Given the description of an element on the screen output the (x, y) to click on. 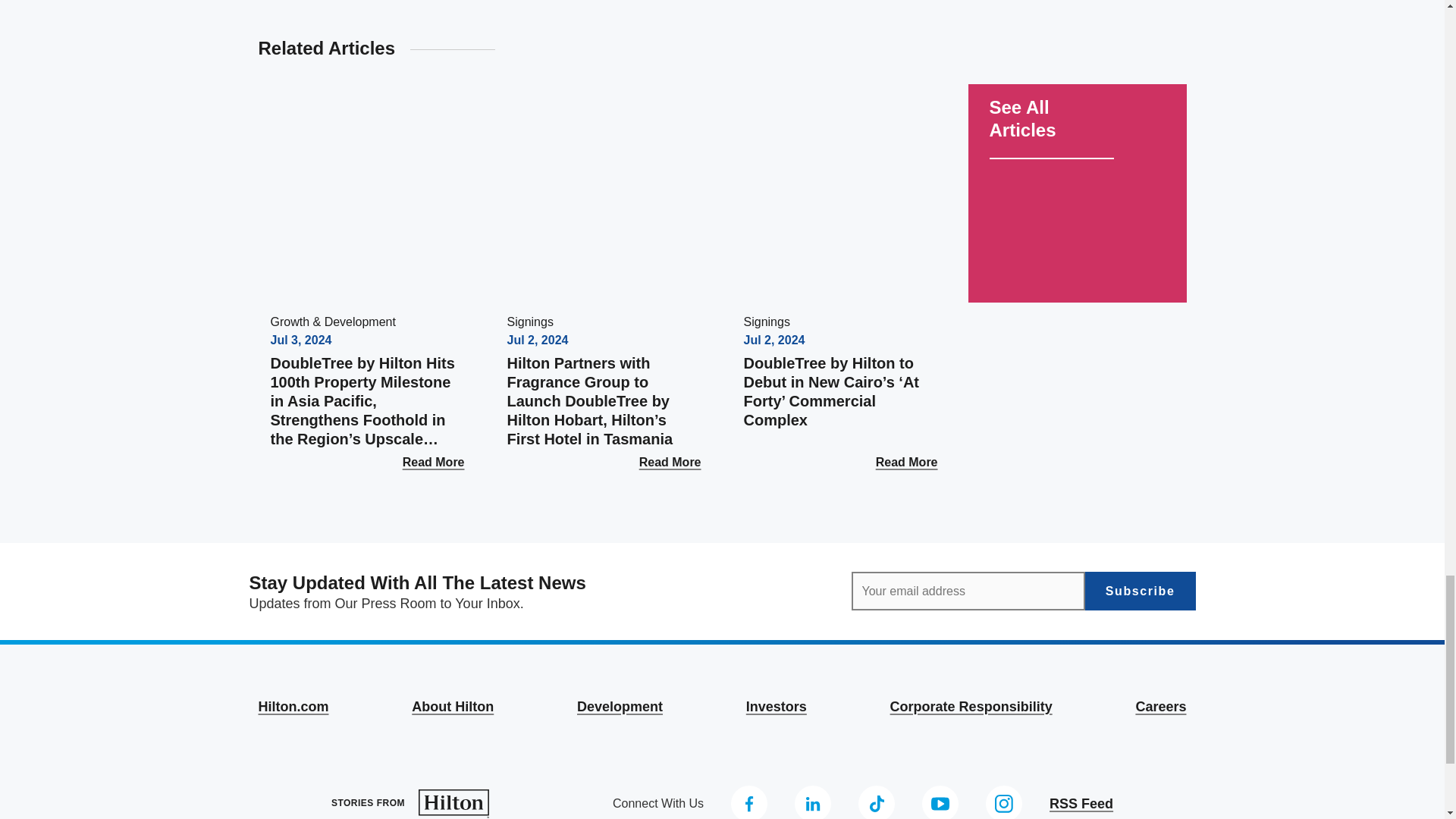
Stories From Hilton (410, 804)
Subscribe (1139, 590)
